Given the description of an element on the screen output the (x, y) to click on. 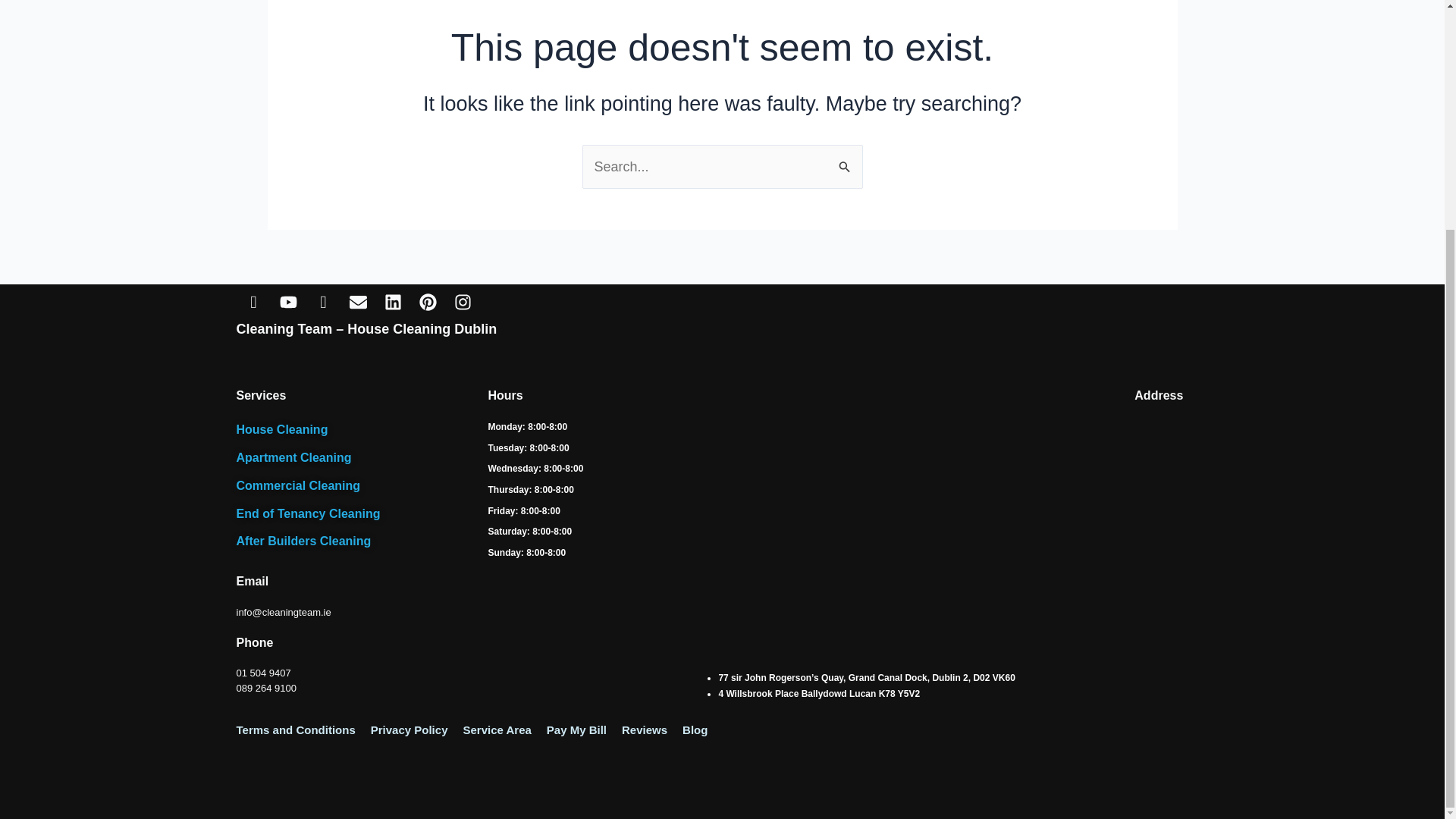
Search (844, 160)
Search (844, 160)
